Given the description of an element on the screen output the (x, y) to click on. 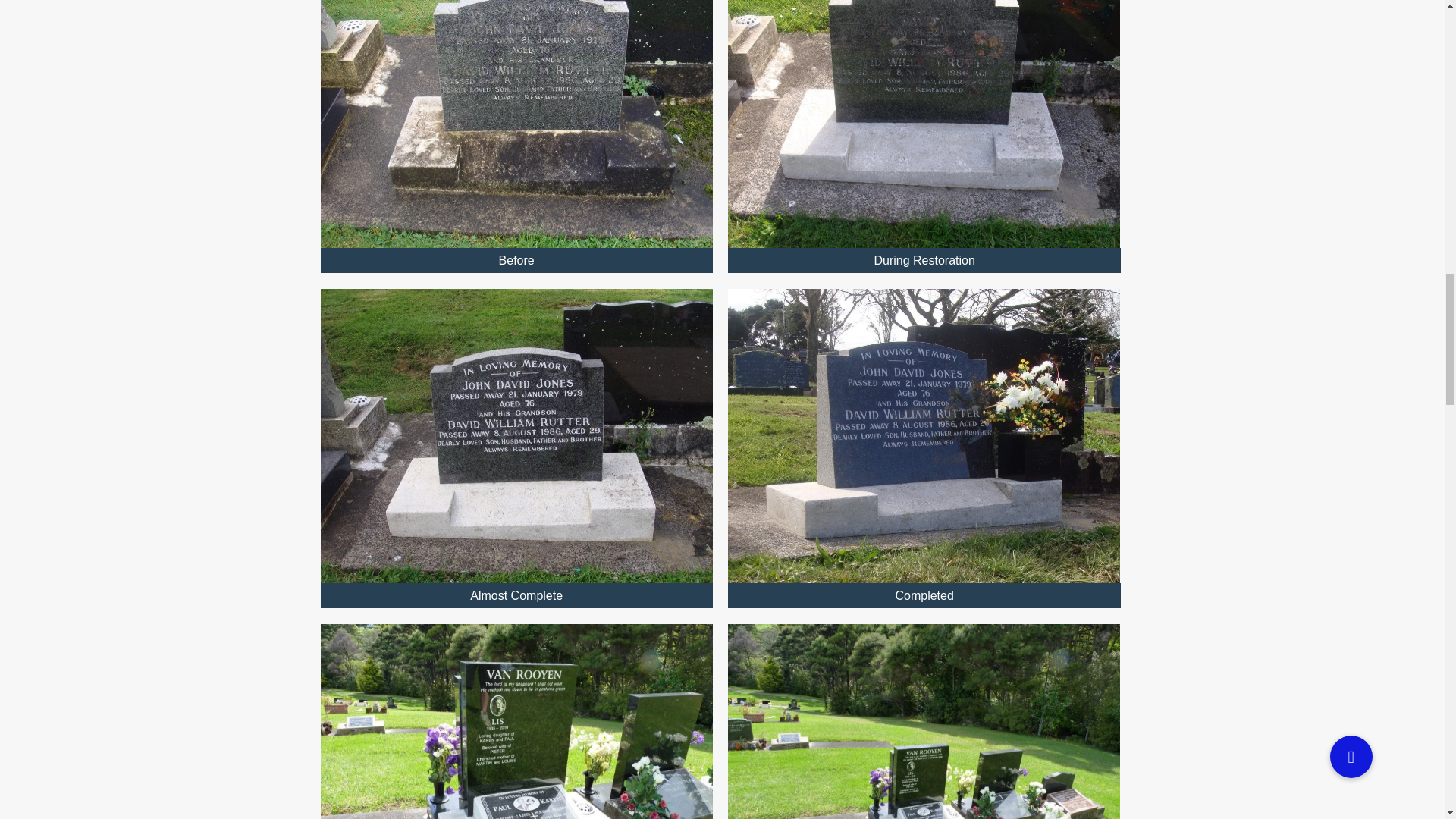
Before (515, 124)
Completed (923, 436)
Almost Complete (515, 436)
During Restoration (923, 124)
